Given the description of an element on the screen output the (x, y) to click on. 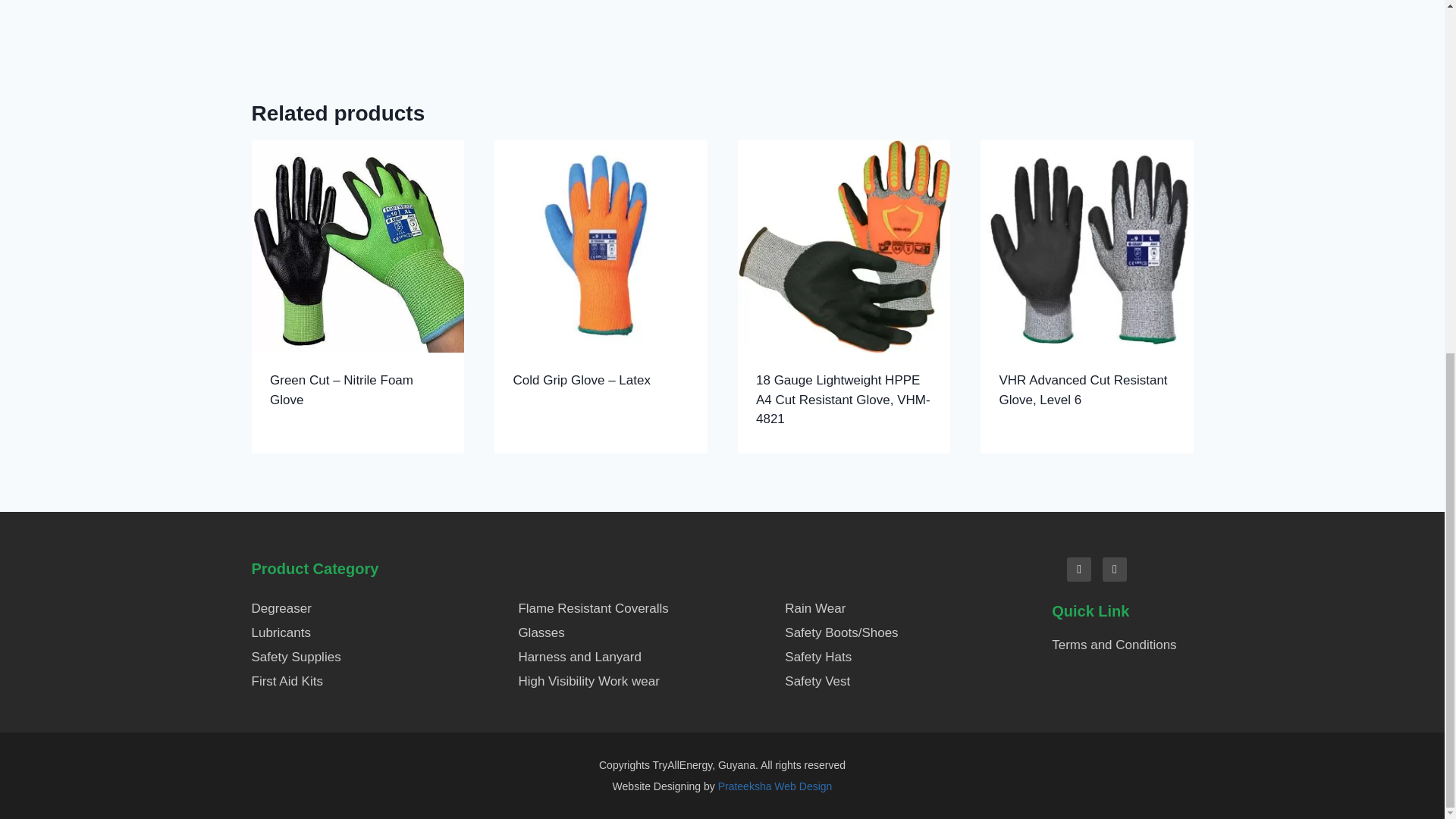
18 Gauge Lightweight HPPE A4 Cut Resistant Glove, VHM-4821 (842, 399)
